Given the description of an element on the screen output the (x, y) to click on. 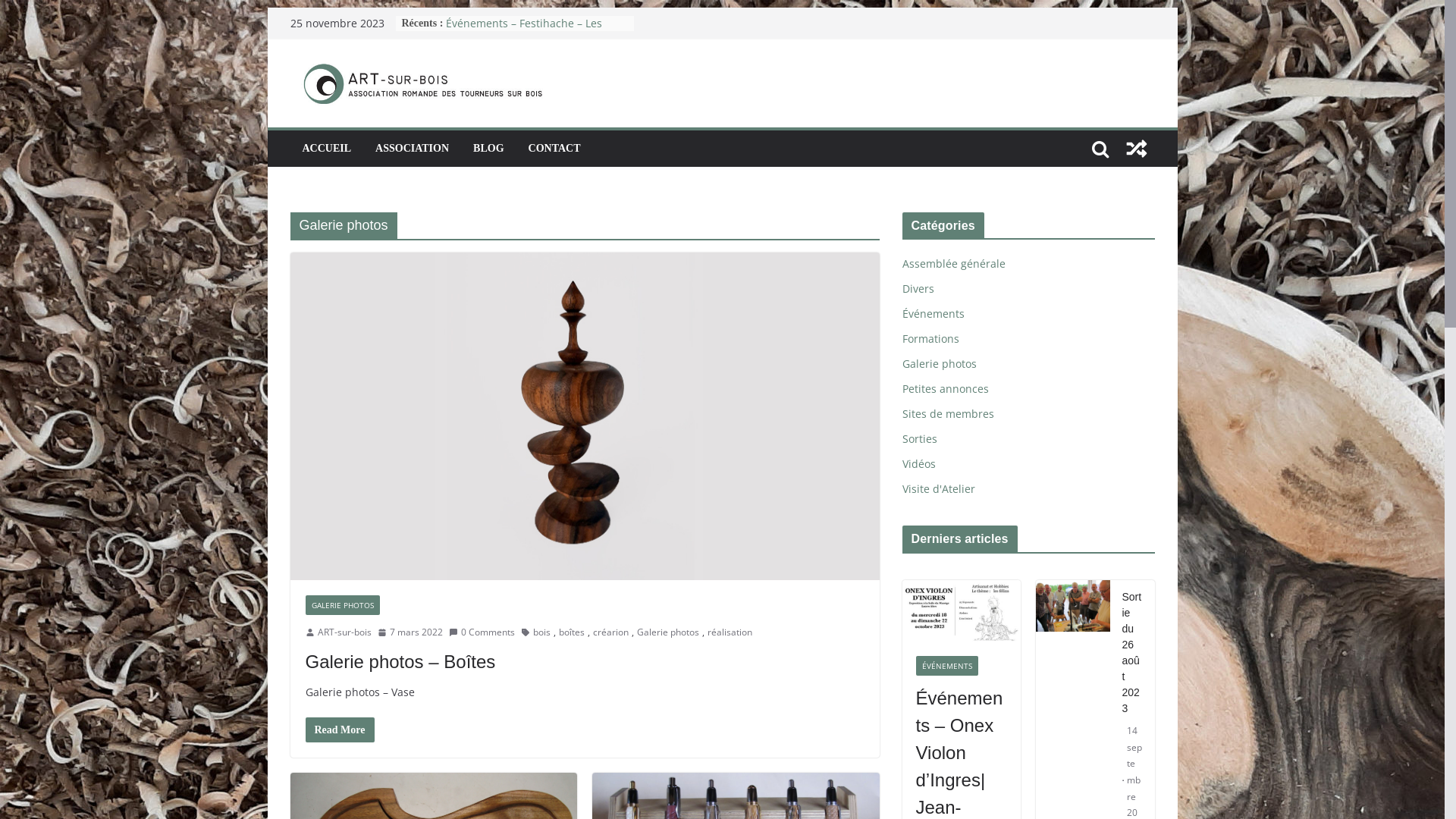
Sortie du 22 avril 2023 Element type: text (502, 22)
Passer au contenu Element type: text (266, 6)
Sorties Element type: text (919, 438)
BLOG Element type: text (488, 148)
ART-sur-bois Element type: text (343, 632)
Visite d'Atelier Element type: text (938, 488)
Petites annonces Element type: text (945, 388)
Formations Element type: text (930, 338)
0 Comments Element type: text (481, 632)
Divers Element type: text (918, 288)
Galerie photos Element type: text (939, 363)
Read More Element type: text (338, 729)
bois Element type: text (540, 632)
ASSOCIATION Element type: text (411, 148)
GALERIE PHOTOS Element type: text (341, 605)
ACCUEIL Element type: text (326, 148)
7 mars 2022 Element type: text (409, 632)
Galerie photos Element type: text (668, 632)
CONTACT Element type: text (554, 148)
Sites de membres Element type: text (948, 413)
Voir un article au hasard Element type: hover (1135, 148)
